Given the description of an element on the screen output the (x, y) to click on. 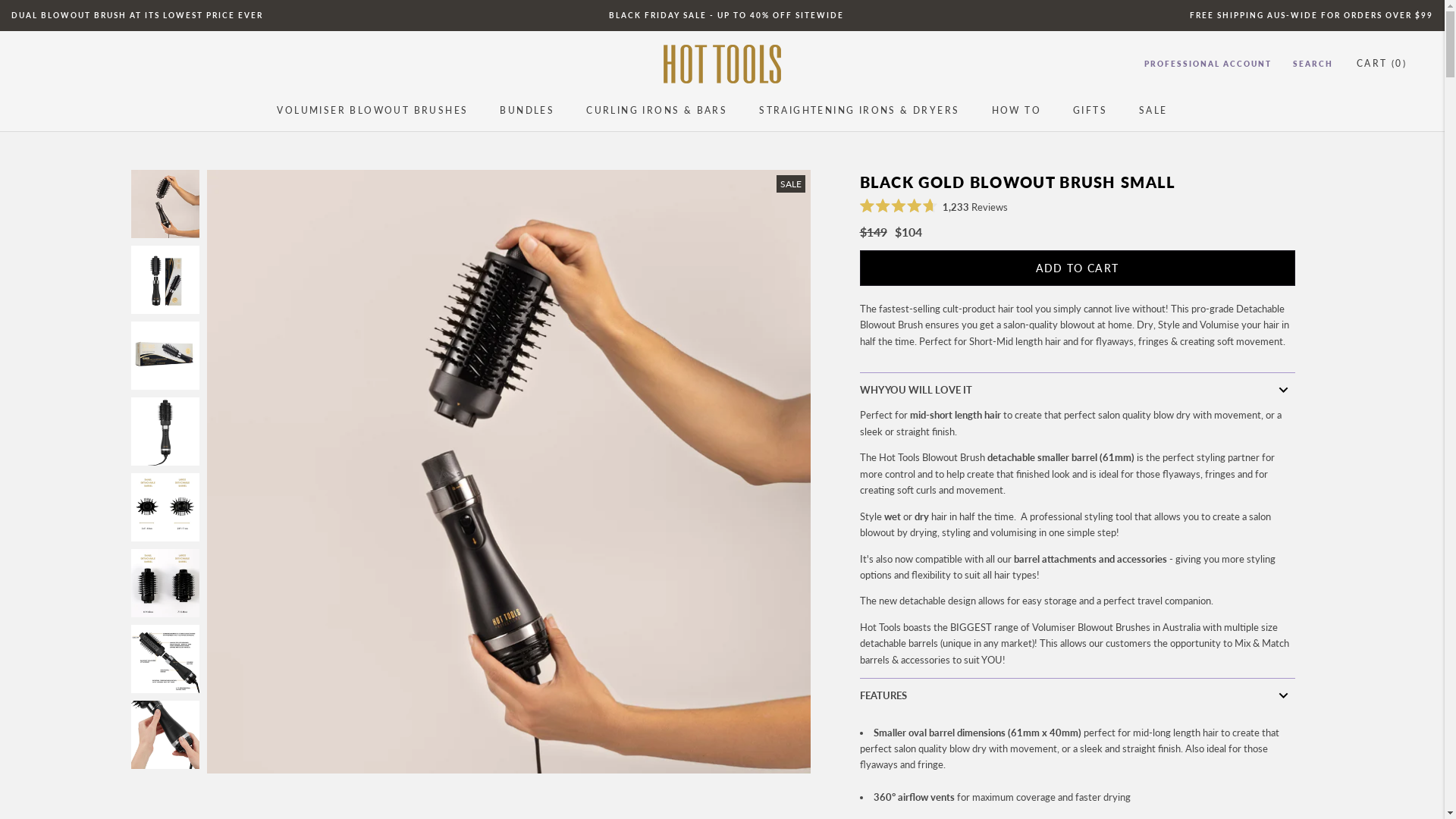
CURLING IRONS & BARS Element type: text (656, 110)
FREE SHIPPING AUS-WIDE FOR ORDERS OVER $99 Element type: text (1311, 14)
SEARCH Element type: text (1312, 63)
VOLUMISER BLOWOUT BRUSHES Element type: text (371, 110)
BUNDLES Element type: text (526, 110)
STRAIGHTENING IRONS & DRYERS Element type: text (859, 110)
DUAL BLOWOUT BRUSH AT ITS LOWEST PRICE EVER Element type: text (137, 14)
BLACK FRIDAY SALE - UP TO 40% OFF SITEWIDE Element type: text (726, 14)
SALE Element type: text (1153, 110)
PROFESSIONAL ACCOUNT Element type: text (1207, 63)
GIFTS Element type: text (1090, 110)
ADD TO CART Element type: text (1077, 267)
HOW TO Element type: text (1016, 110)
CART (0) Element type: text (1381, 63)
